Given the description of an element on the screen output the (x, y) to click on. 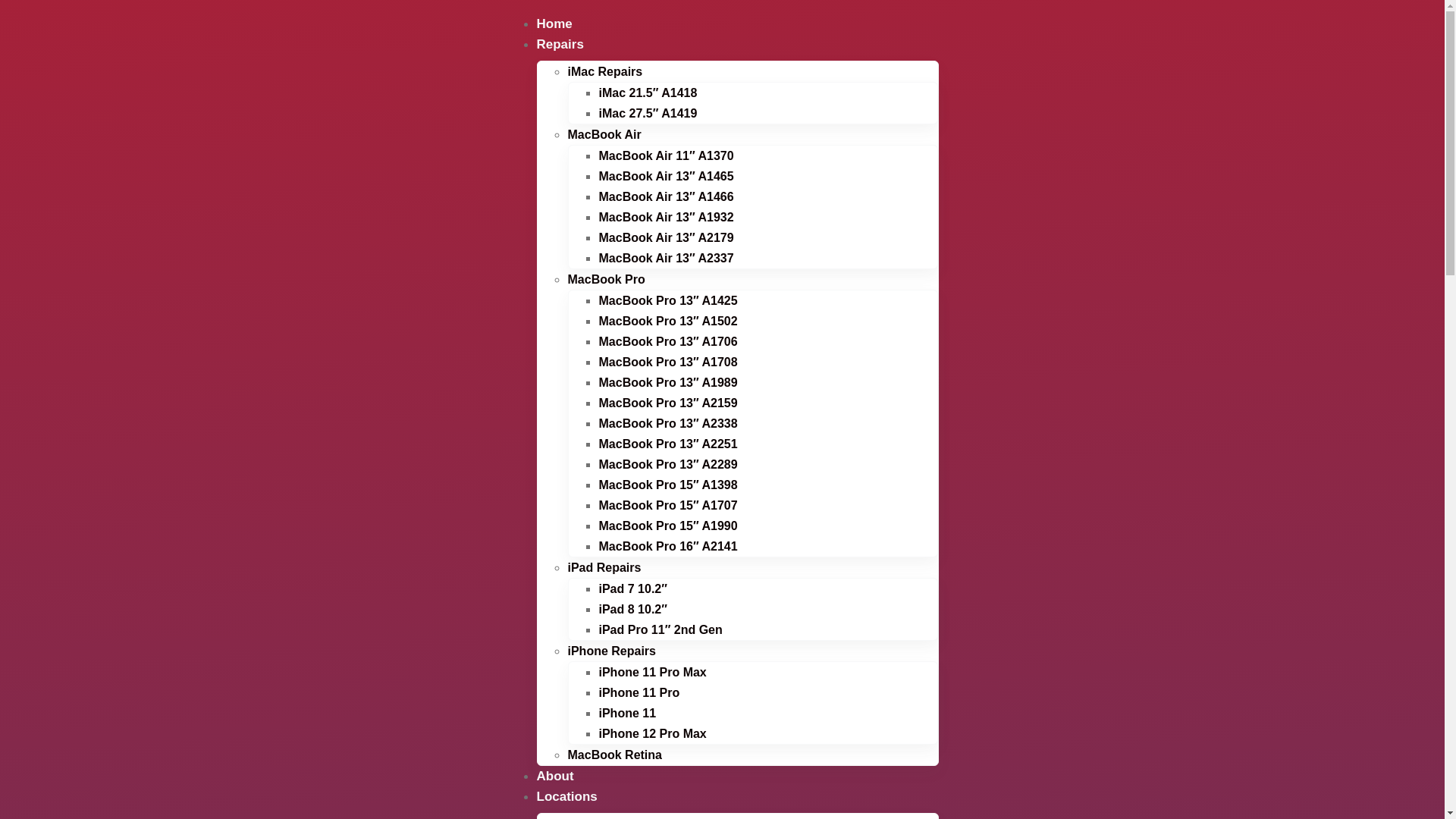
About Element type: text (555, 775)
MacBook Pro Element type: text (605, 279)
MacBook Air Element type: text (603, 134)
iPhone Repairs Element type: text (611, 650)
Repairs Element type: text (559, 44)
iPad Repairs Element type: text (603, 567)
iPhone 11 Pro Max Element type: text (652, 671)
MacBook Retina Element type: text (614, 754)
iMac Repairs Element type: text (604, 71)
iPhone 12 Pro Max Element type: text (652, 733)
Locations Element type: text (566, 796)
iPhone 11 Pro Element type: text (639, 692)
iPhone 11 Element type: text (627, 712)
Home Element type: text (554, 23)
